Given the description of an element on the screen output the (x, y) to click on. 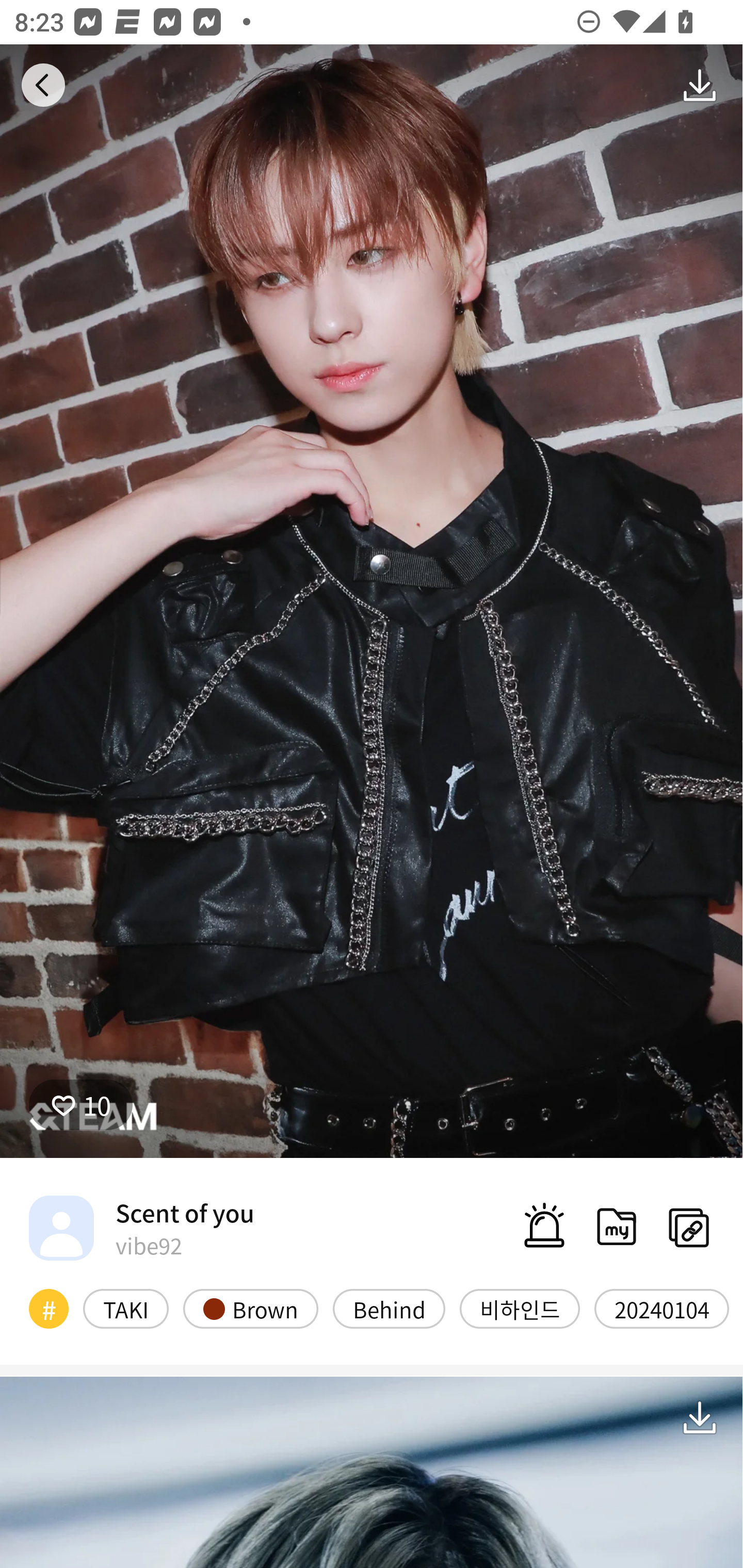
10 (80, 1104)
Scent of you vibe92 (141, 1227)
TAKI (125, 1308)
Brown (250, 1308)
Behind (388, 1308)
비하인드 (519, 1308)
20240104 (661, 1308)
